Given the description of an element on the screen output the (x, y) to click on. 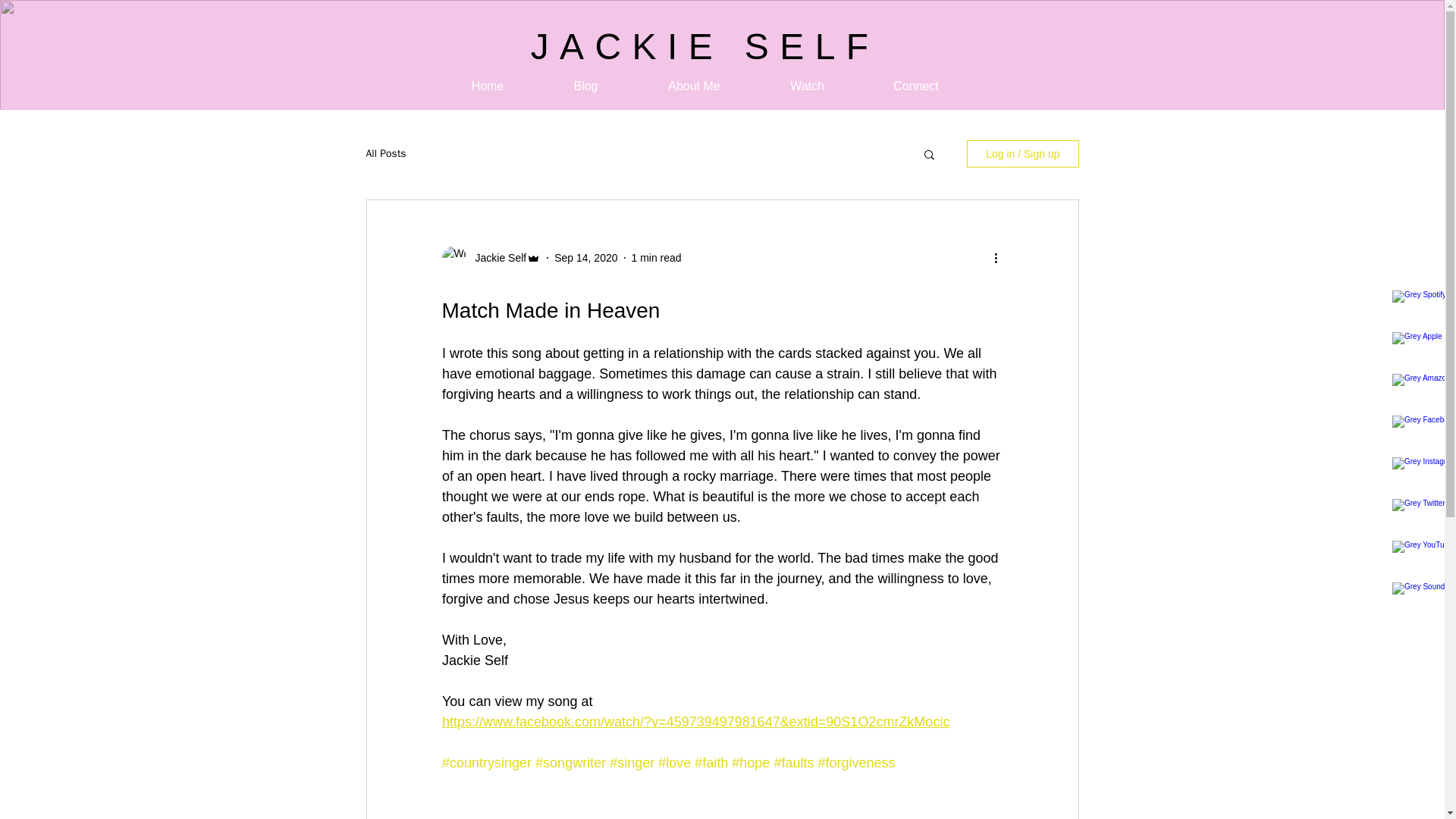
Blog (584, 86)
Connect (915, 86)
1 min read (655, 257)
Jackie Self (495, 258)
JACKIE SELF (705, 46)
About Me (693, 86)
Sep 14, 2020 (585, 257)
All Posts (385, 153)
Watch (807, 86)
Home (487, 86)
